Given the description of an element on the screen output the (x, y) to click on. 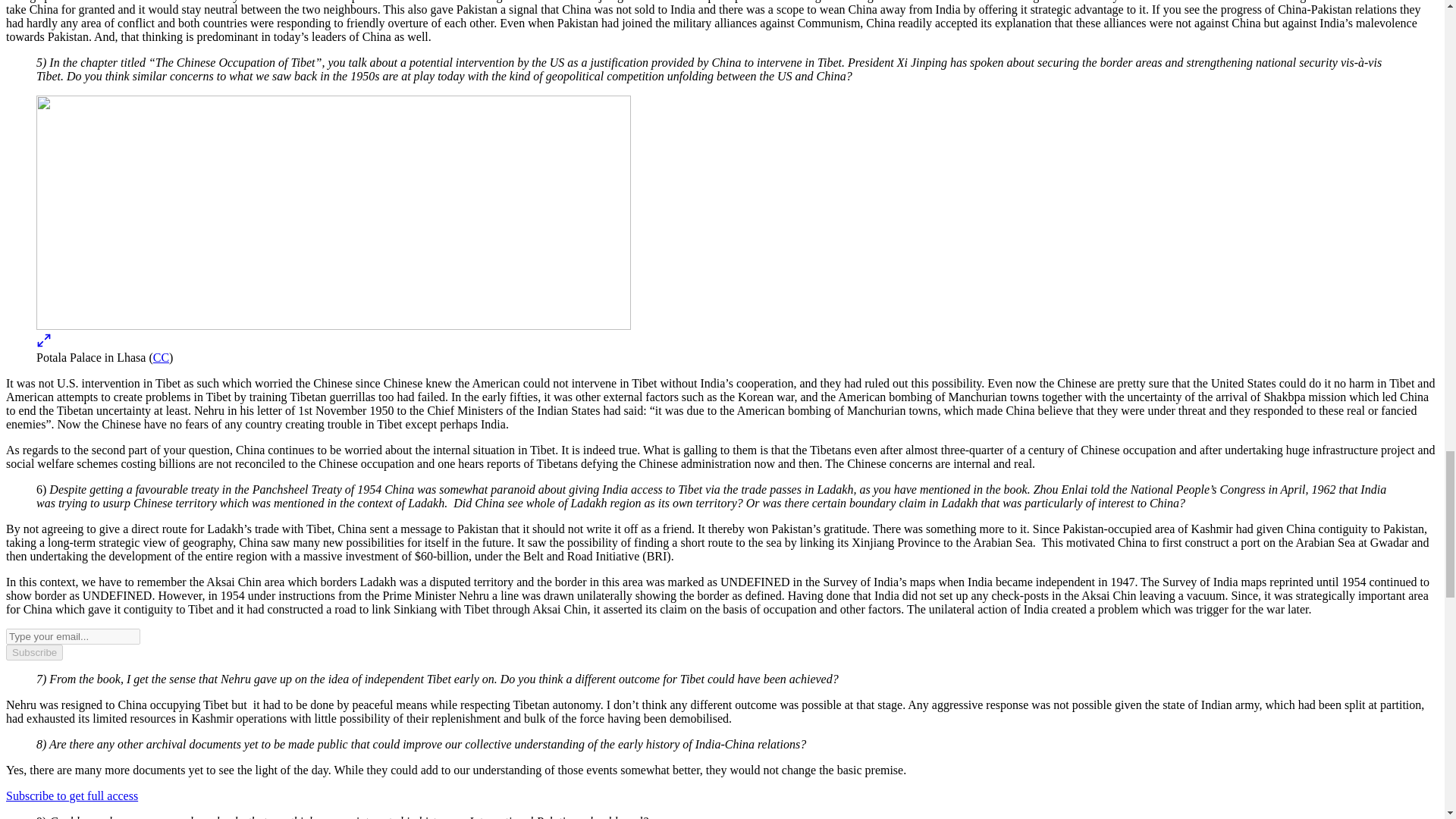
Subscribe to get full access (71, 795)
Subscribe (33, 652)
CC (160, 357)
